Given the description of an element on the screen output the (x, y) to click on. 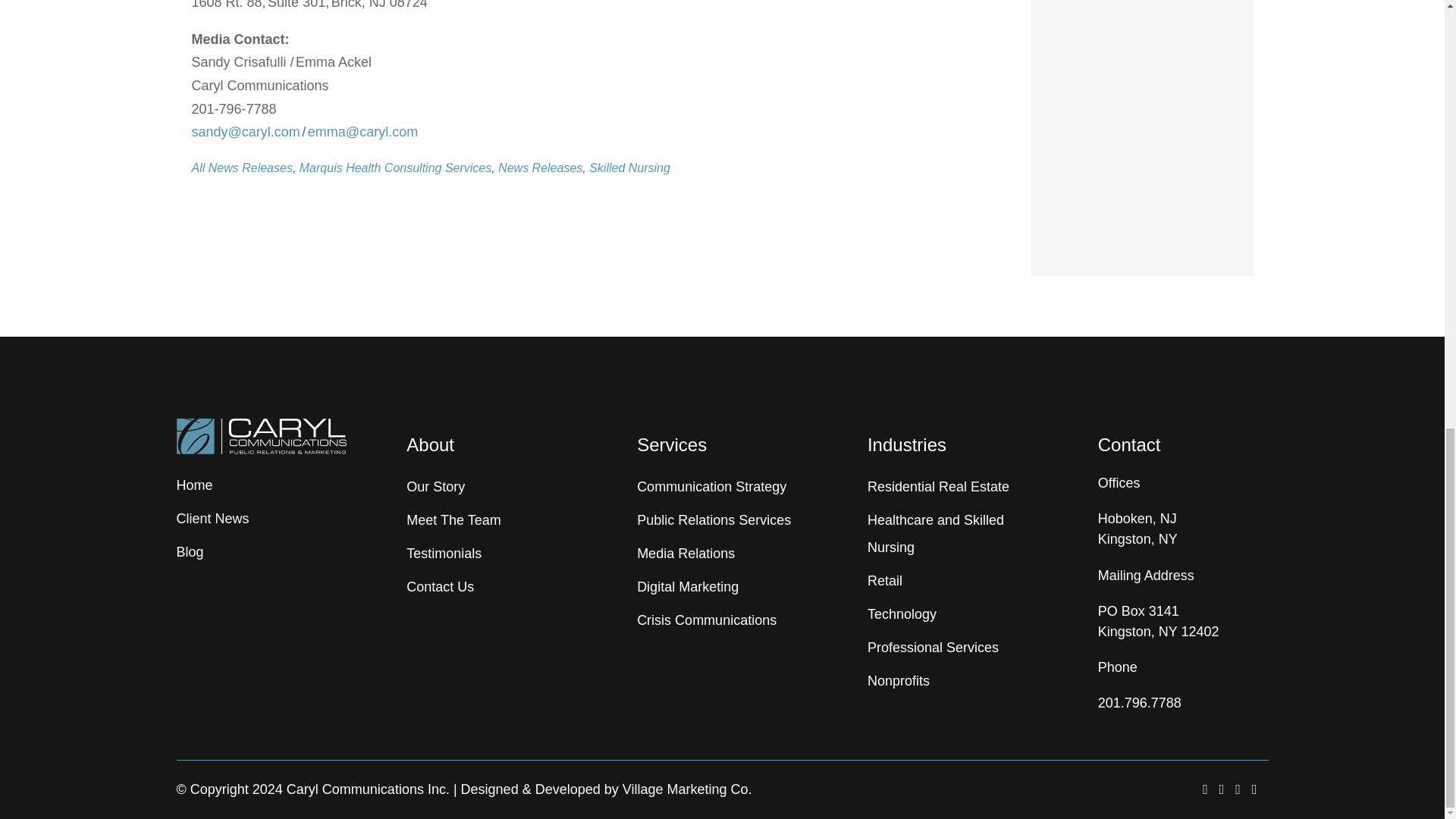
Caryl-Logo-white (261, 436)
